Given the description of an element on the screen output the (x, y) to click on. 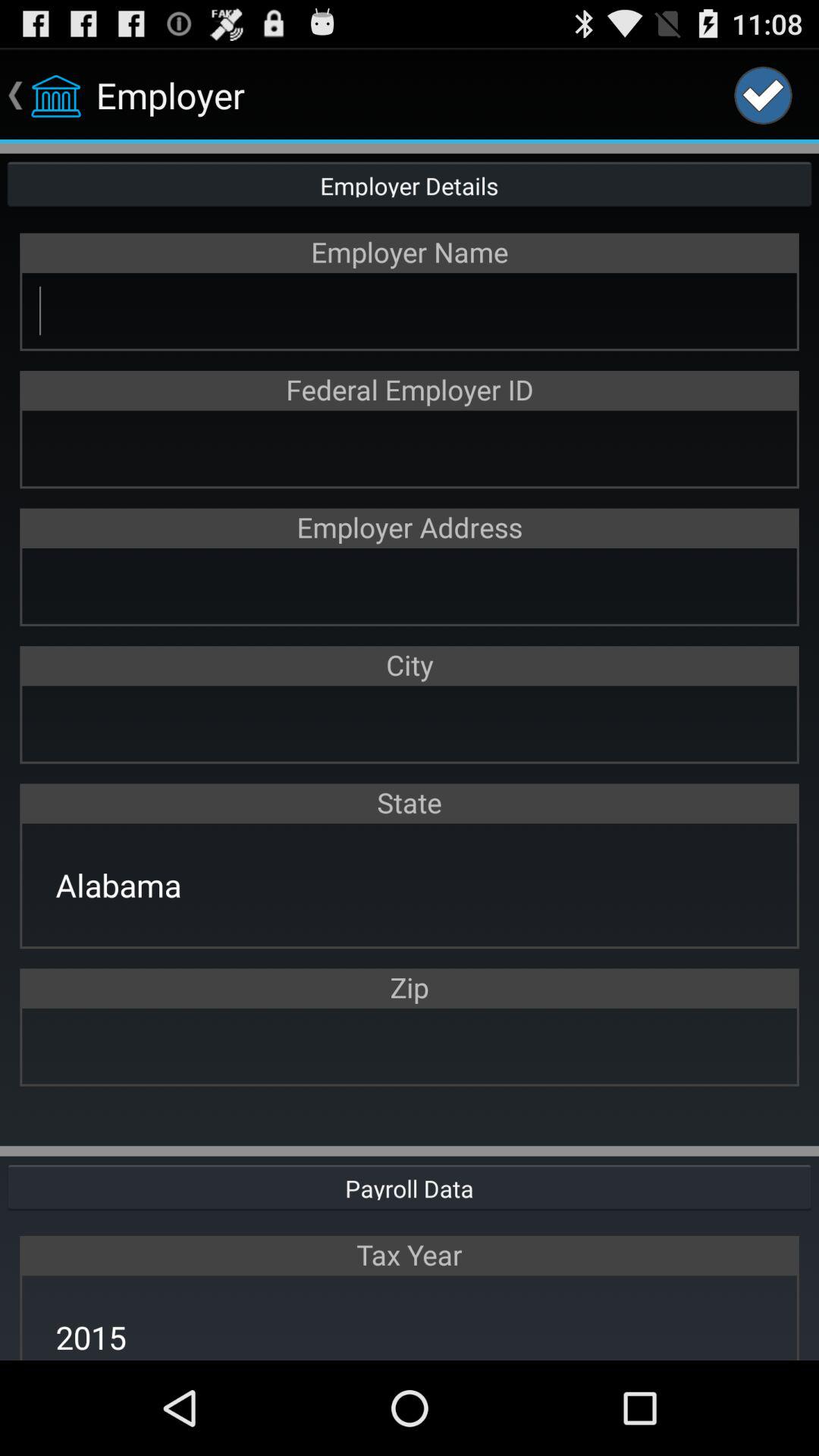
scroll to the employer details (409, 183)
